Given the description of an element on the screen output the (x, y) to click on. 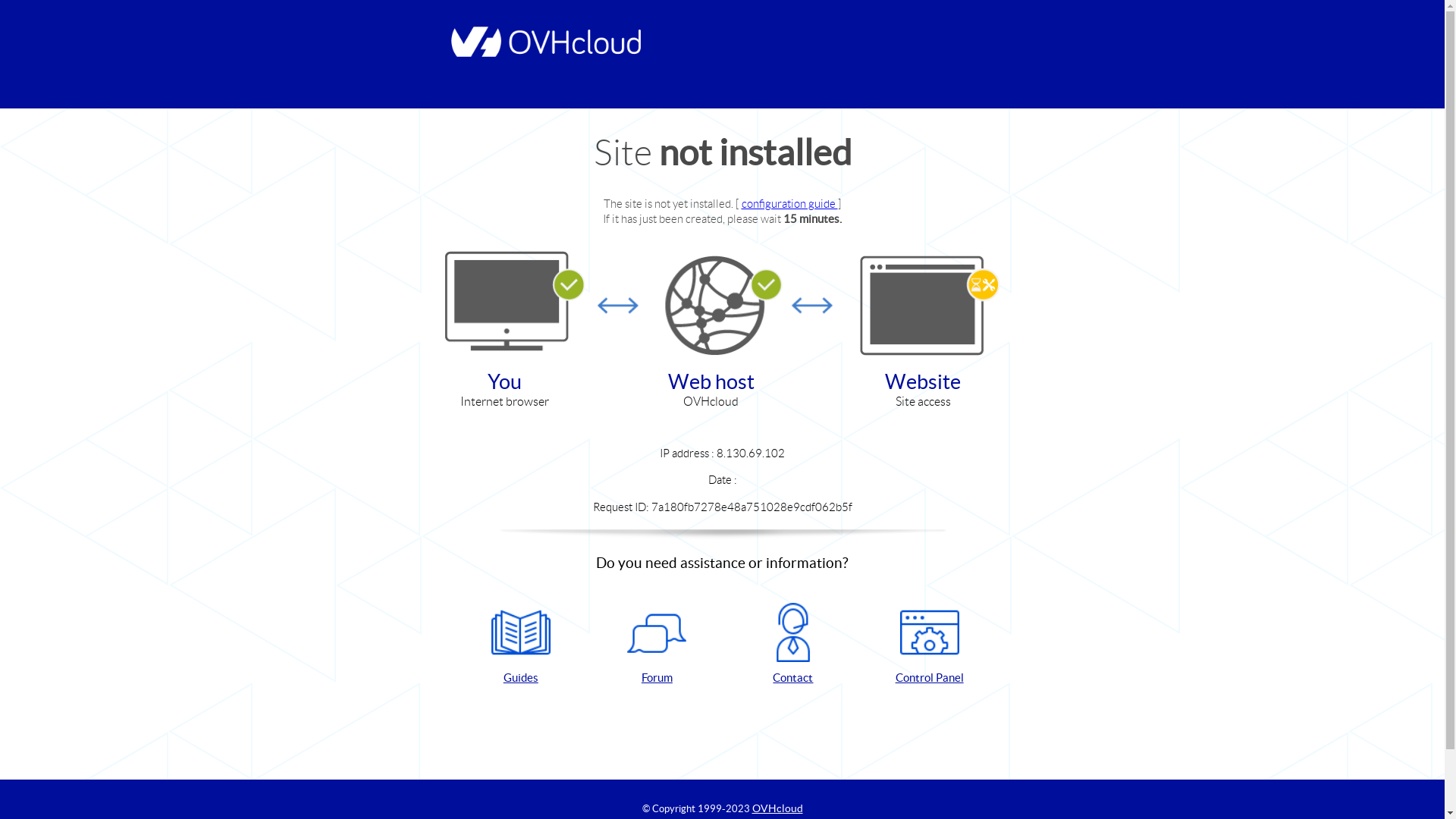
OVHcloud Element type: text (777, 808)
Guides Element type: text (520, 644)
Control Panel Element type: text (929, 644)
Forum Element type: text (656, 644)
configuration guide Element type: text (789, 203)
Contact Element type: text (792, 644)
